Given the description of an element on the screen output the (x, y) to click on. 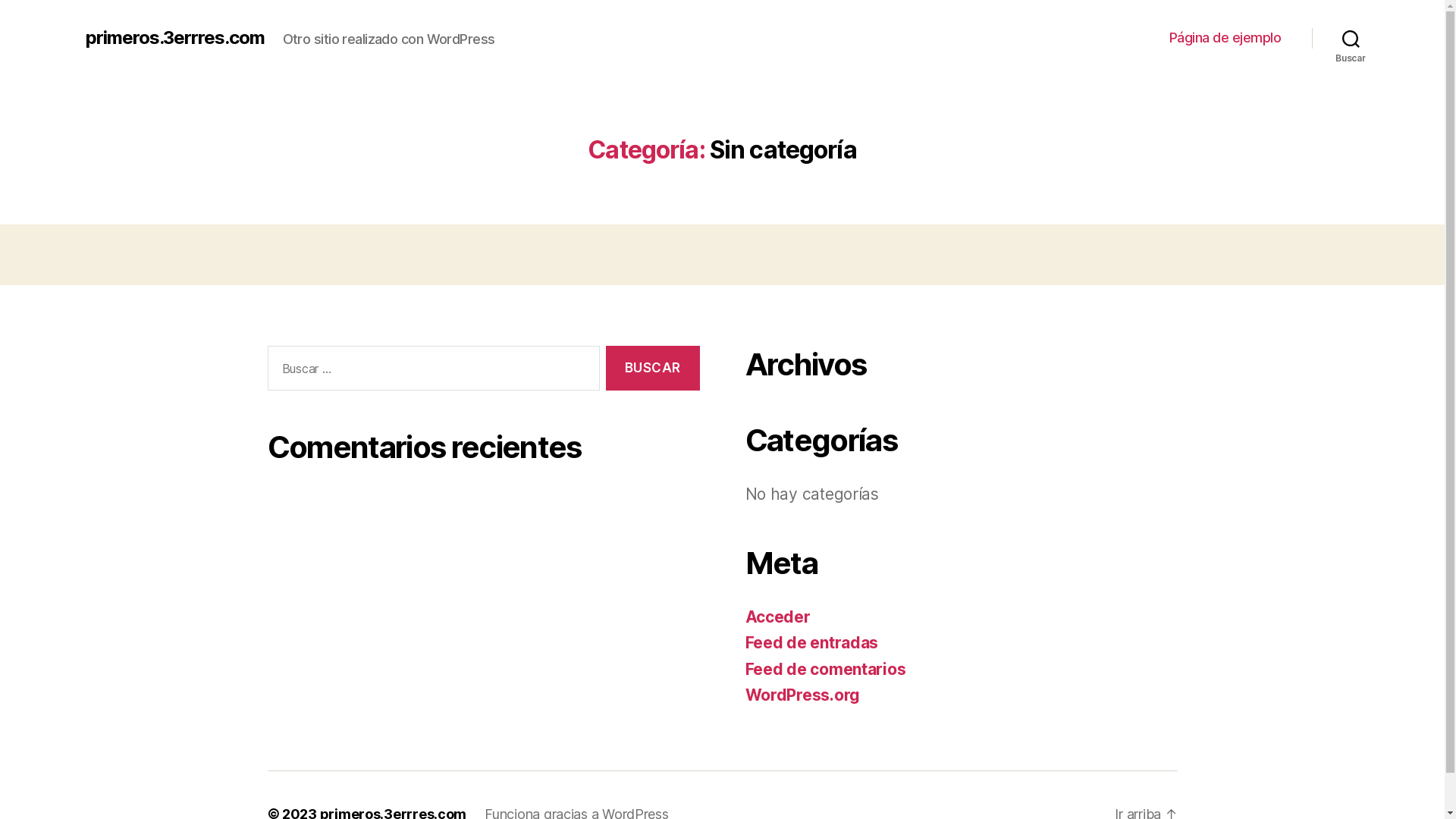
WordPress.org Element type: text (801, 694)
Buscar Element type: text (652, 367)
Acceder Element type: text (776, 616)
Buscar Element type: text (1350, 37)
Feed de comentarios Element type: text (824, 668)
Feed de entradas Element type: text (811, 642)
primeros.3errres.com Element type: text (173, 37)
